Given the description of an element on the screen output the (x, y) to click on. 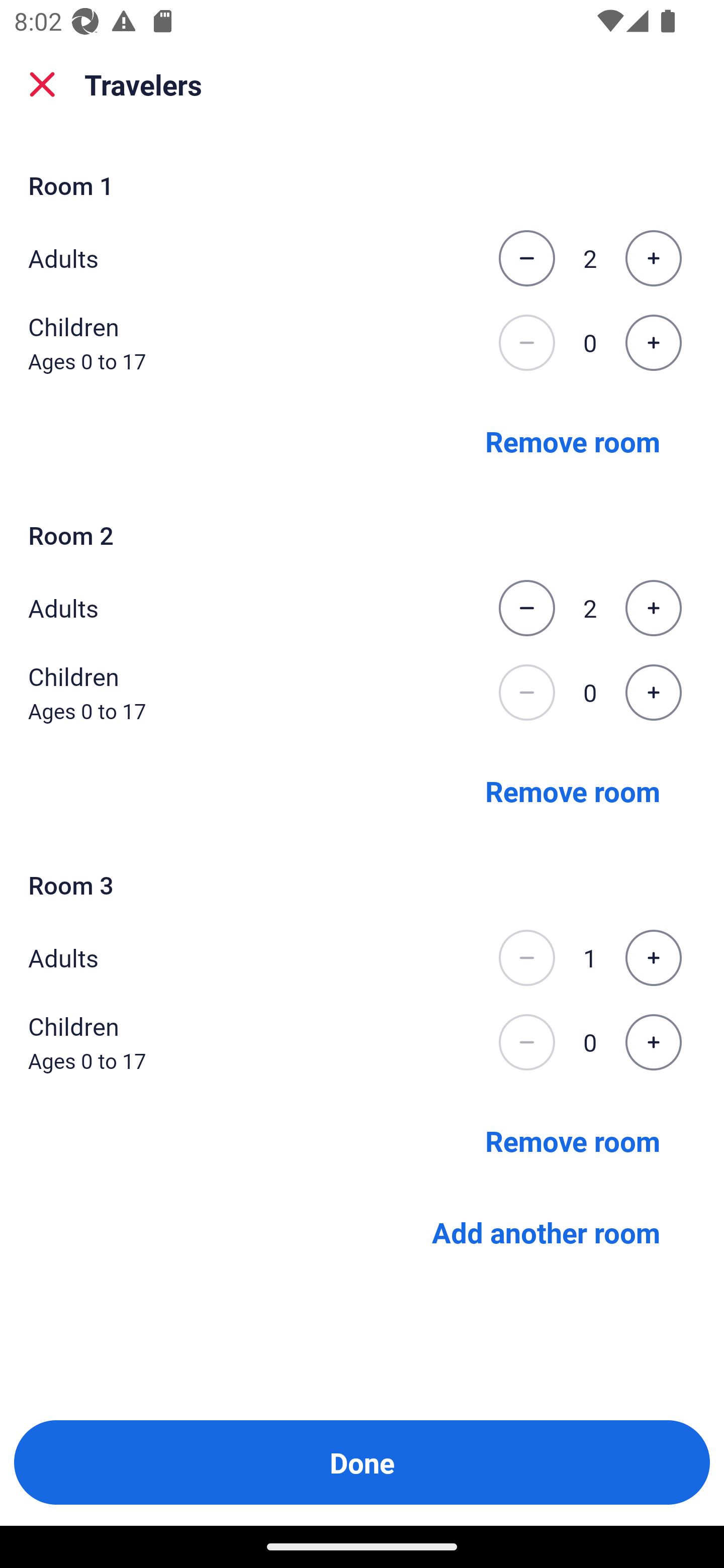
close (42, 84)
Decrease the number of adults (526, 258)
Increase the number of adults (653, 258)
Decrease the number of children (526, 343)
Increase the number of children (653, 343)
Remove room (572, 440)
Decrease the number of adults (526, 608)
Increase the number of adults (653, 608)
Decrease the number of children (526, 692)
Increase the number of children (653, 692)
Remove room (572, 790)
Decrease the number of adults (526, 957)
Increase the number of adults (653, 957)
Decrease the number of children (526, 1042)
Increase the number of children (653, 1042)
Remove room (572, 1140)
Add another room (545, 1232)
Done (361, 1462)
